Given the description of an element on the screen output the (x, y) to click on. 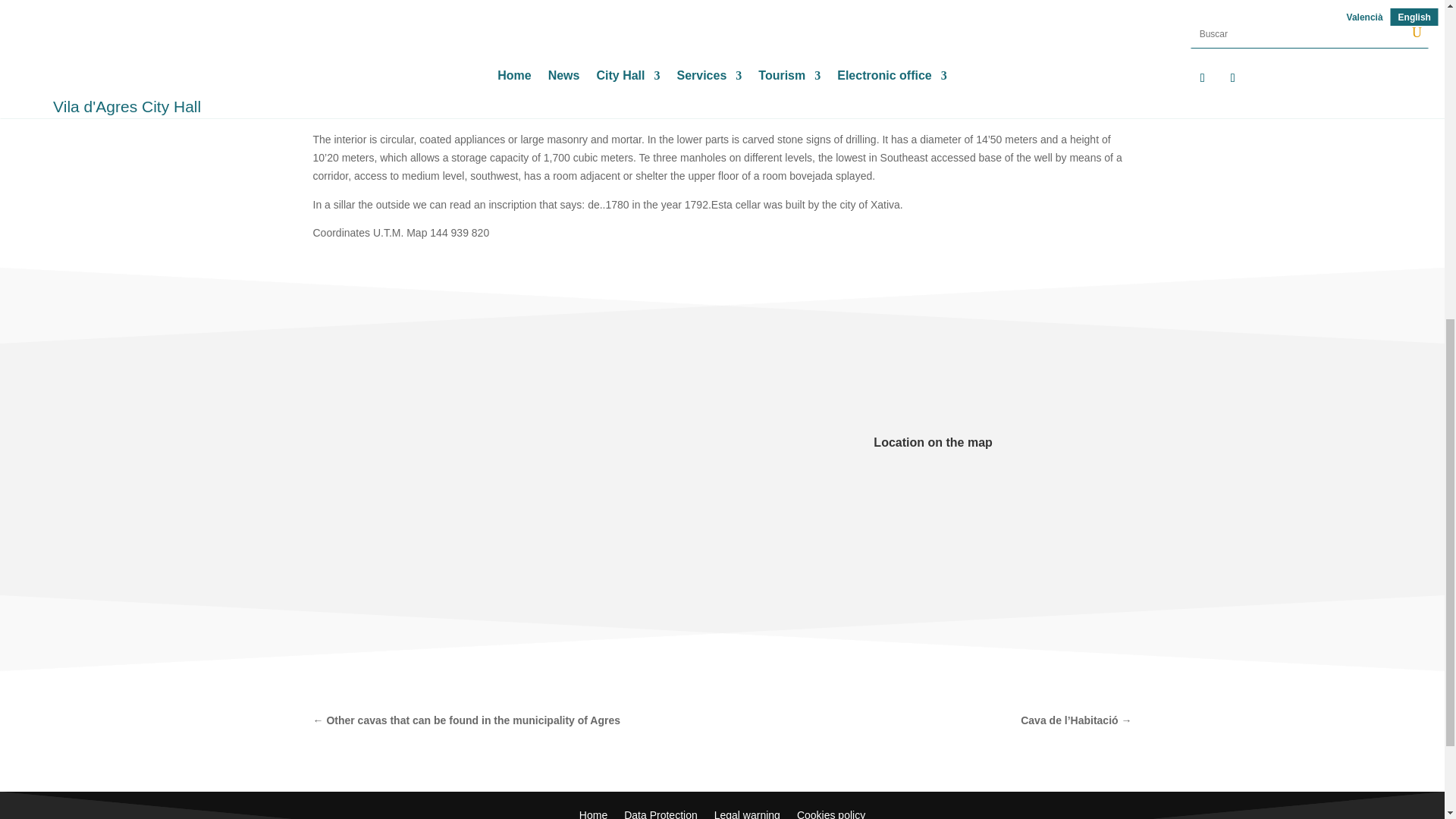
Location on the map (932, 441)
Cava Don Miguel (511, 454)
